Given the description of an element on the screen output the (x, y) to click on. 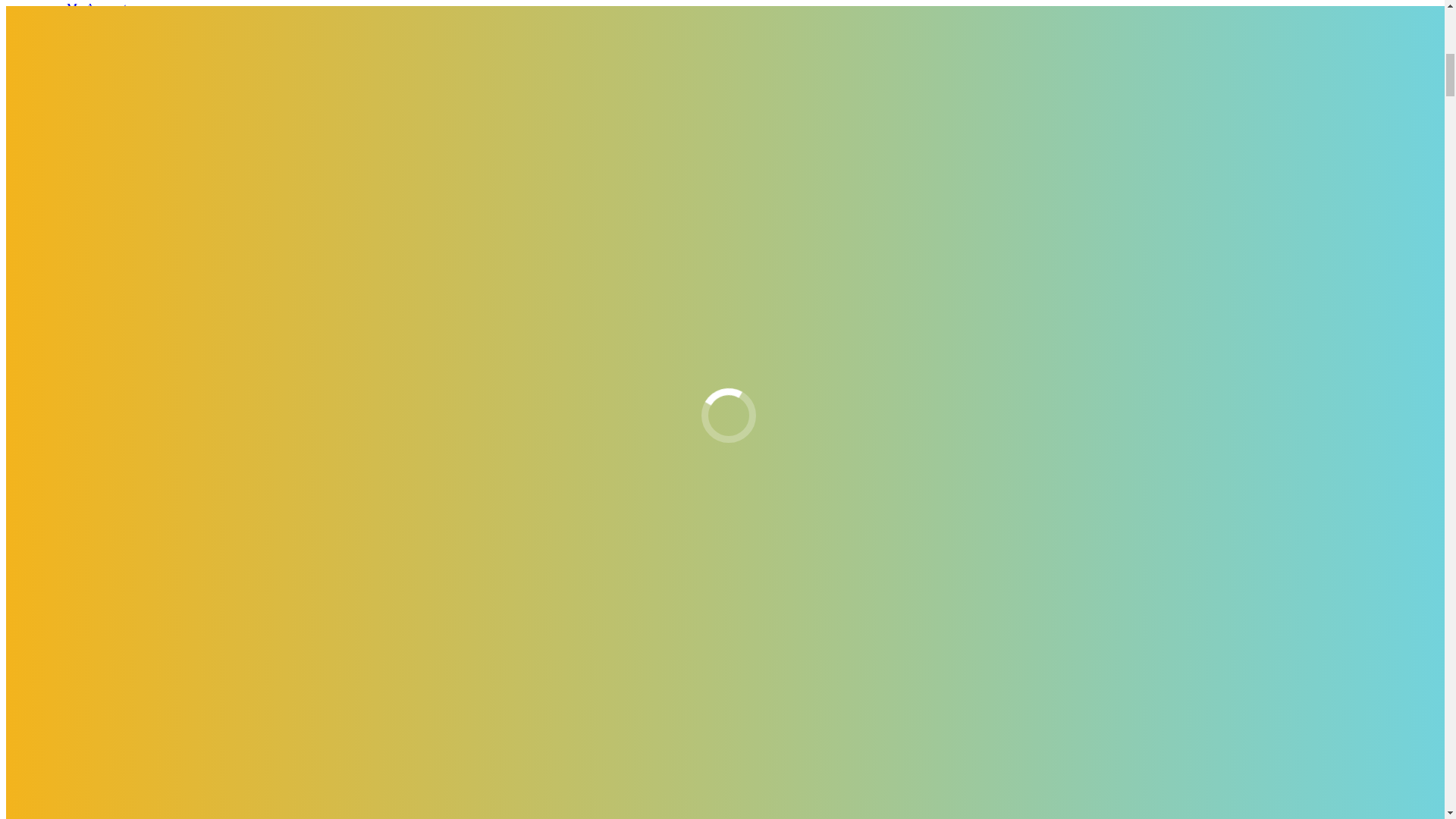
View all posts by Admin (155, 705)
Home (50, 298)
June 2015 Pins (73, 312)
11:35 AM (213, 705)
